Given the description of an element on the screen output the (x, y) to click on. 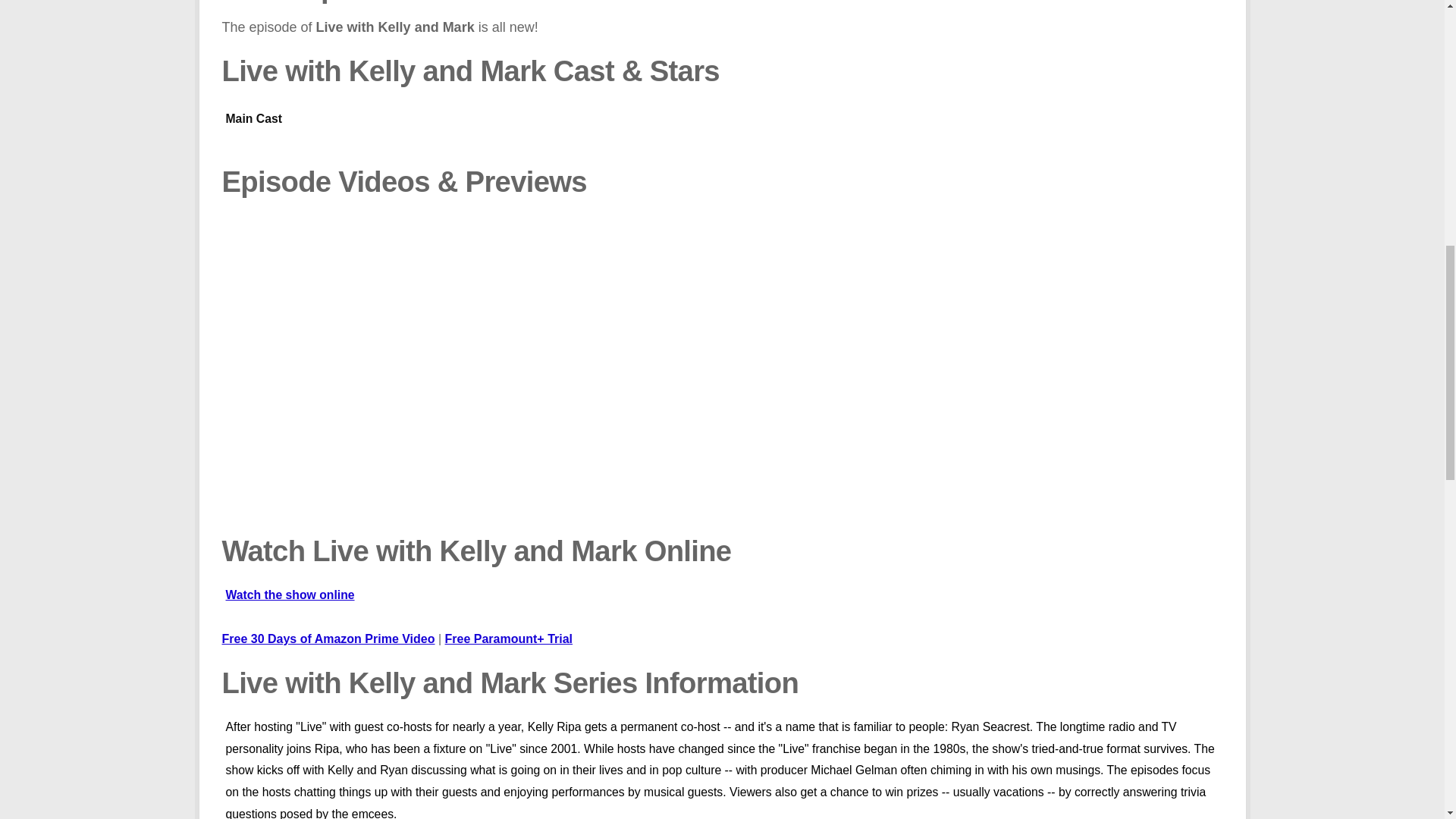
YouTube video player (437, 369)
Main Cast (722, 131)
Watch the show online (722, 604)
